Given the description of an element on the screen output the (x, y) to click on. 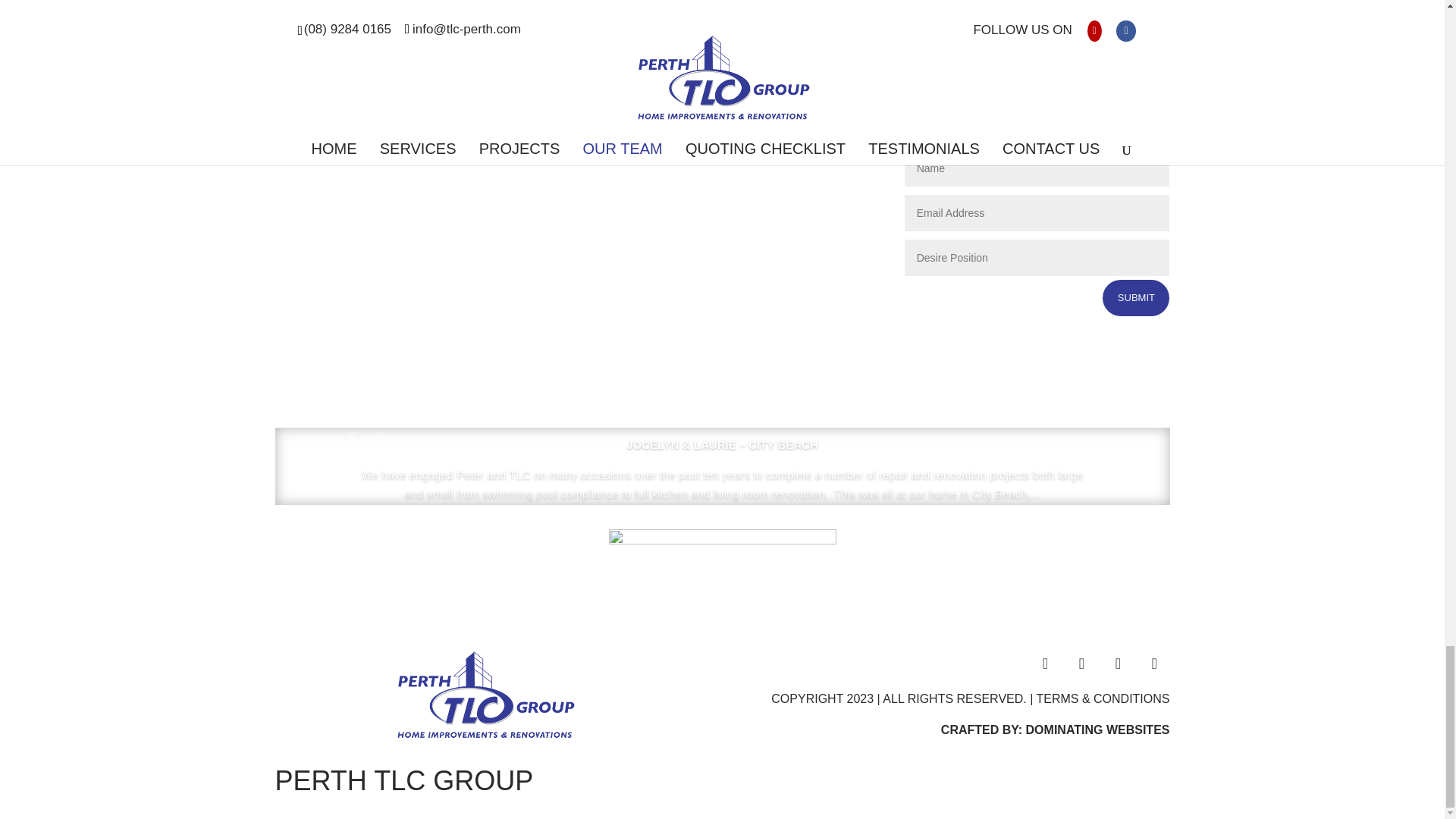
Follow on Twitter (1080, 663)
Follow on Facebook (1044, 663)
VIEW (739, 498)
Follow on RSS (1153, 663)
SUBMIT (1135, 298)
logo-1 (486, 695)
